Given the description of an element on the screen output the (x, y) to click on. 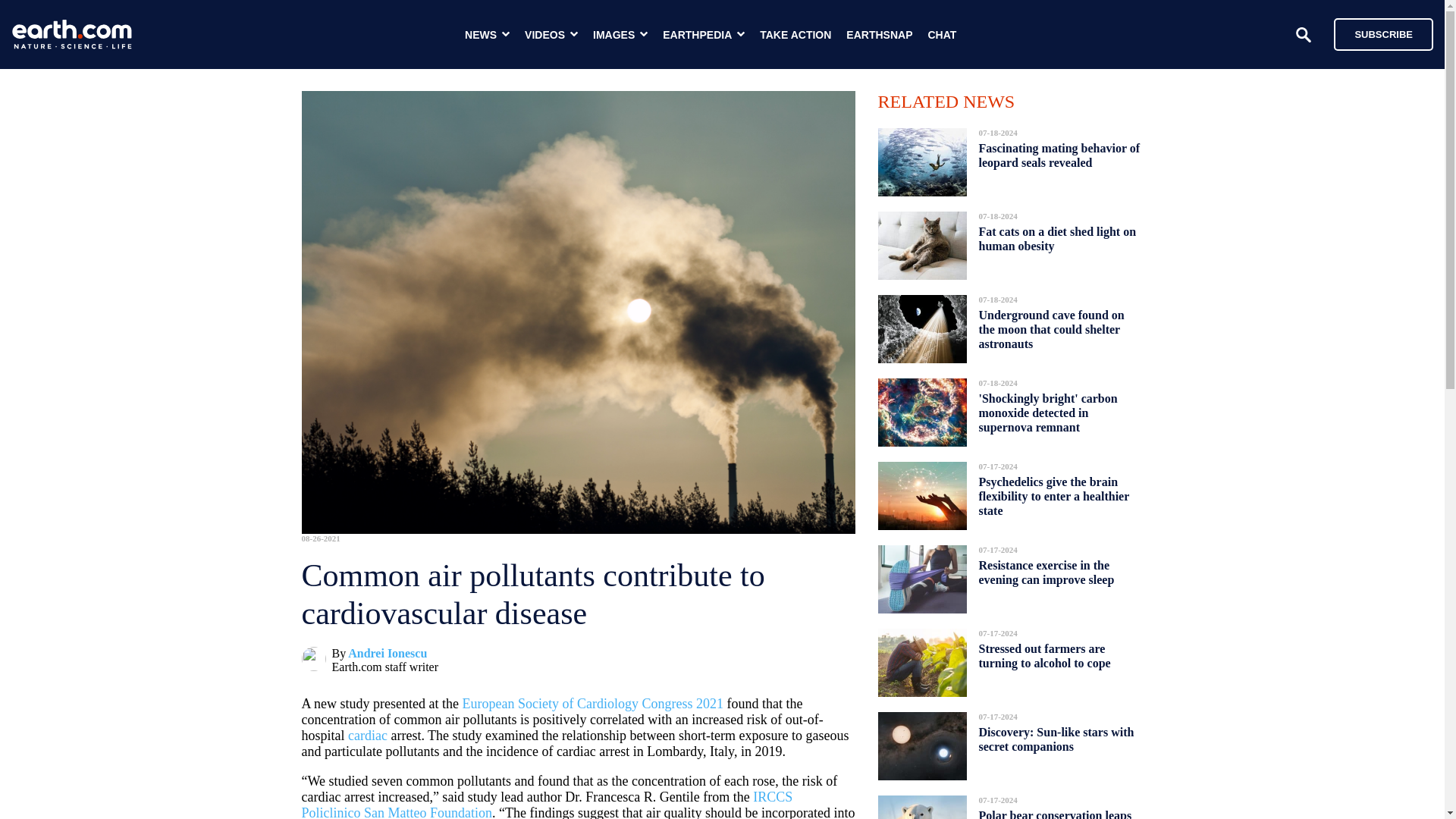
cardiac (367, 735)
Fat cats on a diet shed light on human obesity (1056, 238)
SUBSCRIBE (1382, 34)
Discovery: Sun-like stars with secret companions (1056, 739)
Fascinating mating behavior of leopard seals revealed (1059, 155)
CHAT (941, 34)
TAKE ACTION (795, 34)
Andrei Ionescu (386, 653)
EARTHSNAP (878, 34)
IRCCS Policlinico San Matteo Foundation (547, 804)
Resistance exercise in the evening can improve sleep (1045, 572)
